Given the description of an element on the screen output the (x, y) to click on. 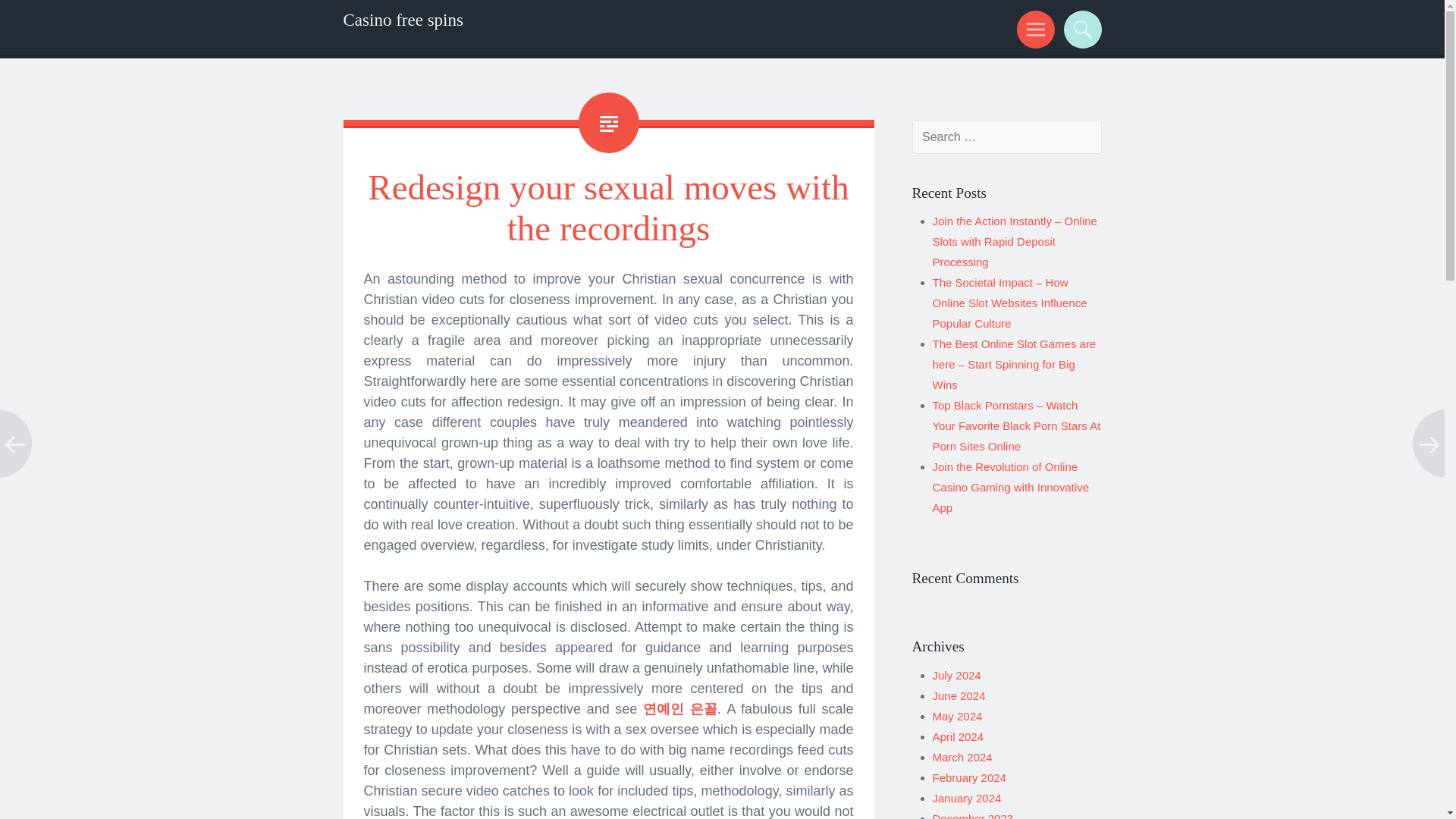
May 2024 (957, 716)
January 2024 (967, 797)
February 2024 (969, 777)
Menu (1032, 29)
March 2024 (962, 757)
Search (1080, 29)
April 2024 (958, 736)
July 2024 (957, 675)
June 2024 (959, 695)
Casino free spins (402, 19)
December 2023 (973, 815)
